Given the description of an element on the screen output the (x, y) to click on. 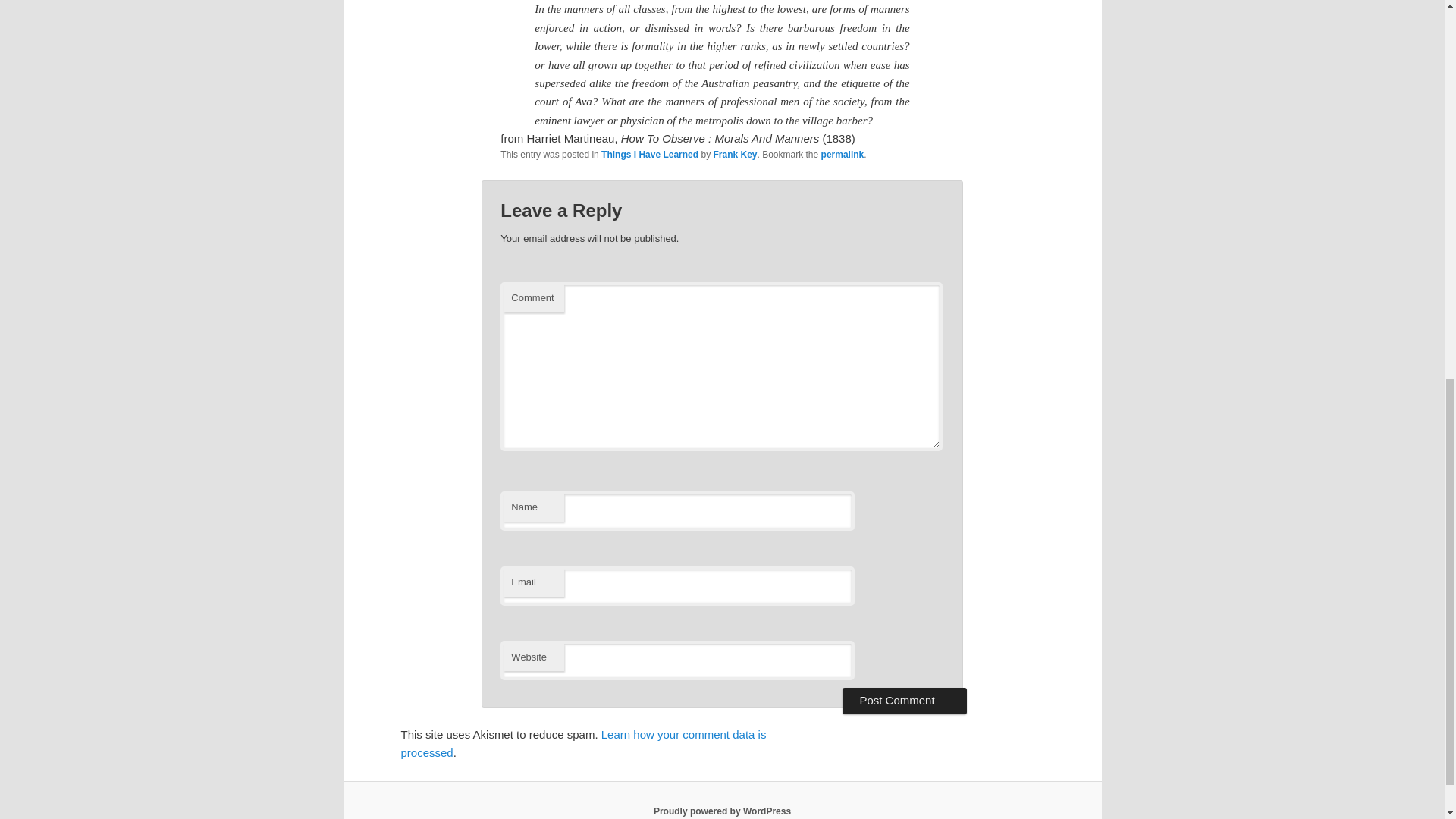
Post Comment (904, 700)
Things I Have Learned (649, 154)
Permalink to Questionnaire (842, 154)
Proudly powered by WordPress (721, 810)
Post Comment (904, 700)
permalink (842, 154)
Learn how your comment data is processed (582, 743)
Semantic Personal Publishing Platform (721, 810)
Frank Key (735, 154)
